Given the description of an element on the screen output the (x, y) to click on. 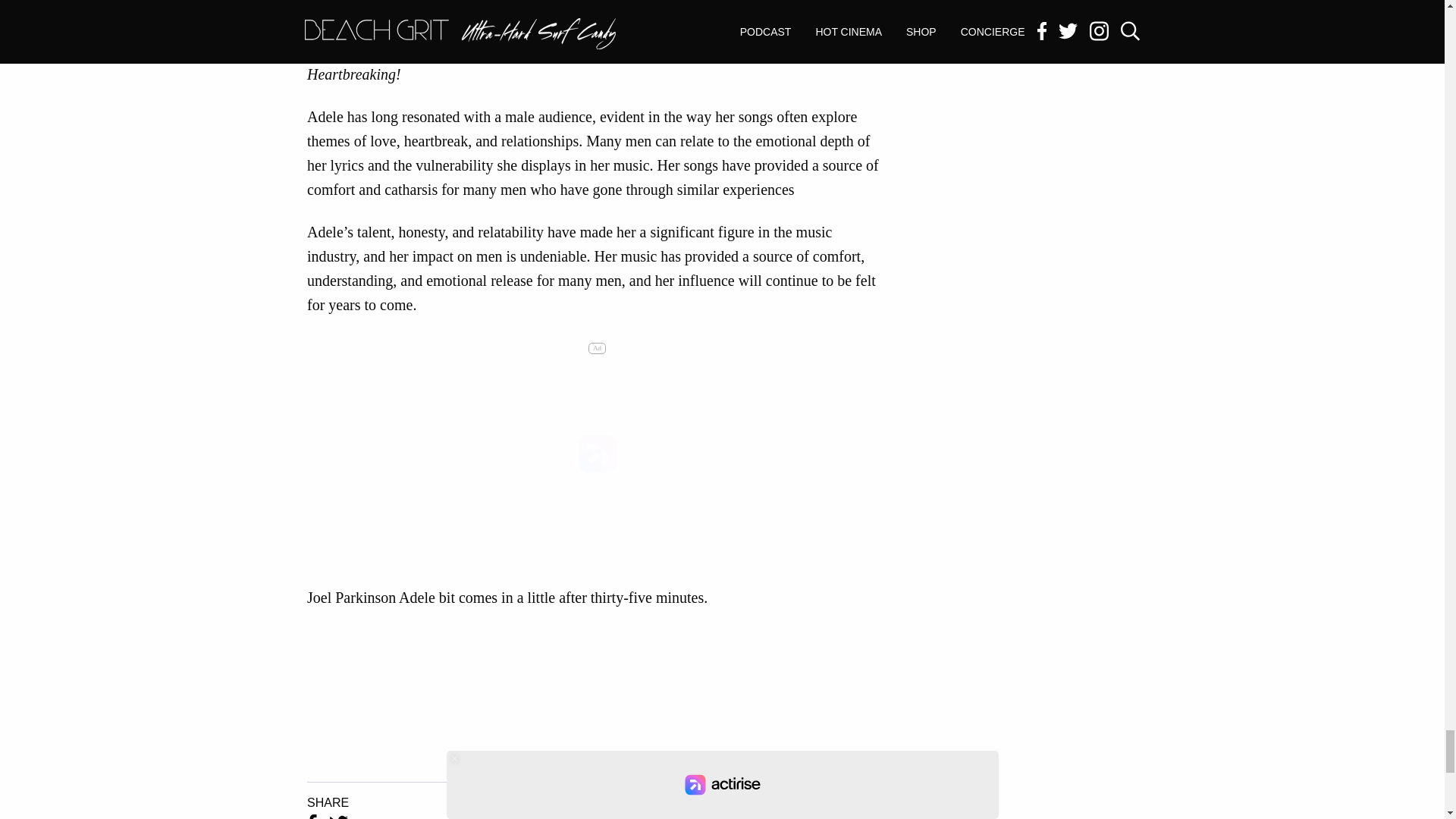
Share on Twitter (338, 815)
